Given the description of an element on the screen output the (x, y) to click on. 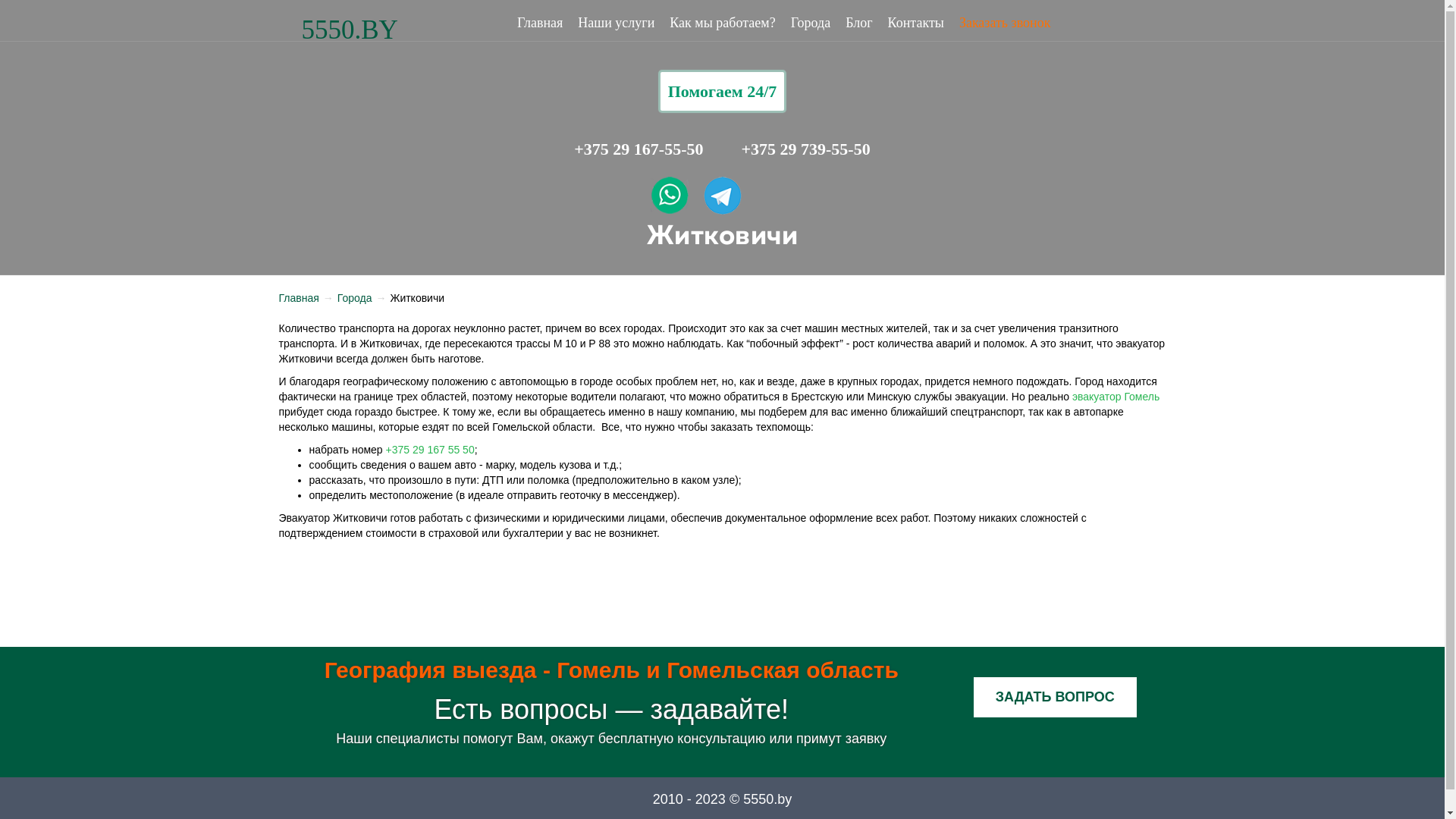
+375 29 167 55 50 Element type: text (429, 449)
+375 29 167-55-50 Element type: text (638, 148)
5550.BY Element type: text (349, 29)
+375 29 739-55-50 Element type: text (805, 148)
